Given the description of an element on the screen output the (x, y) to click on. 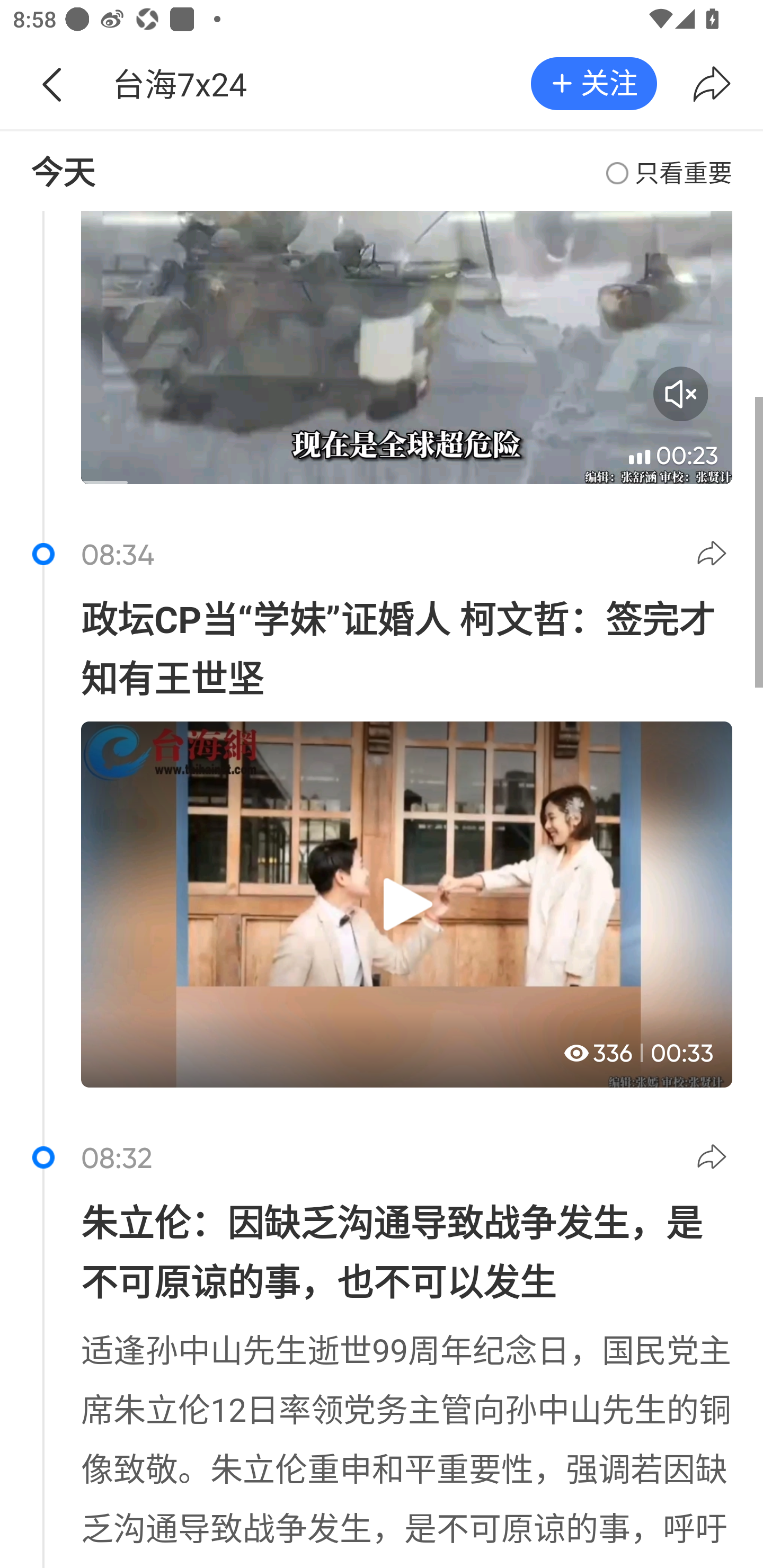
 台海7x24  关注  (381, 65)
 关注 (593, 82)
 (50, 83)
 (711, 83)
只看重要 (668, 173)
71.0 00:23 音量开关  696 00:25 (381, 366)
音量开关 (680, 393)
节点 08:34  政坛CP当“学妹”证婚人 柯文哲：签完才知有王世坚  336 00:33 (381, 823)
 (713, 556)
 (713, 1160)
